Given the description of an element on the screen output the (x, y) to click on. 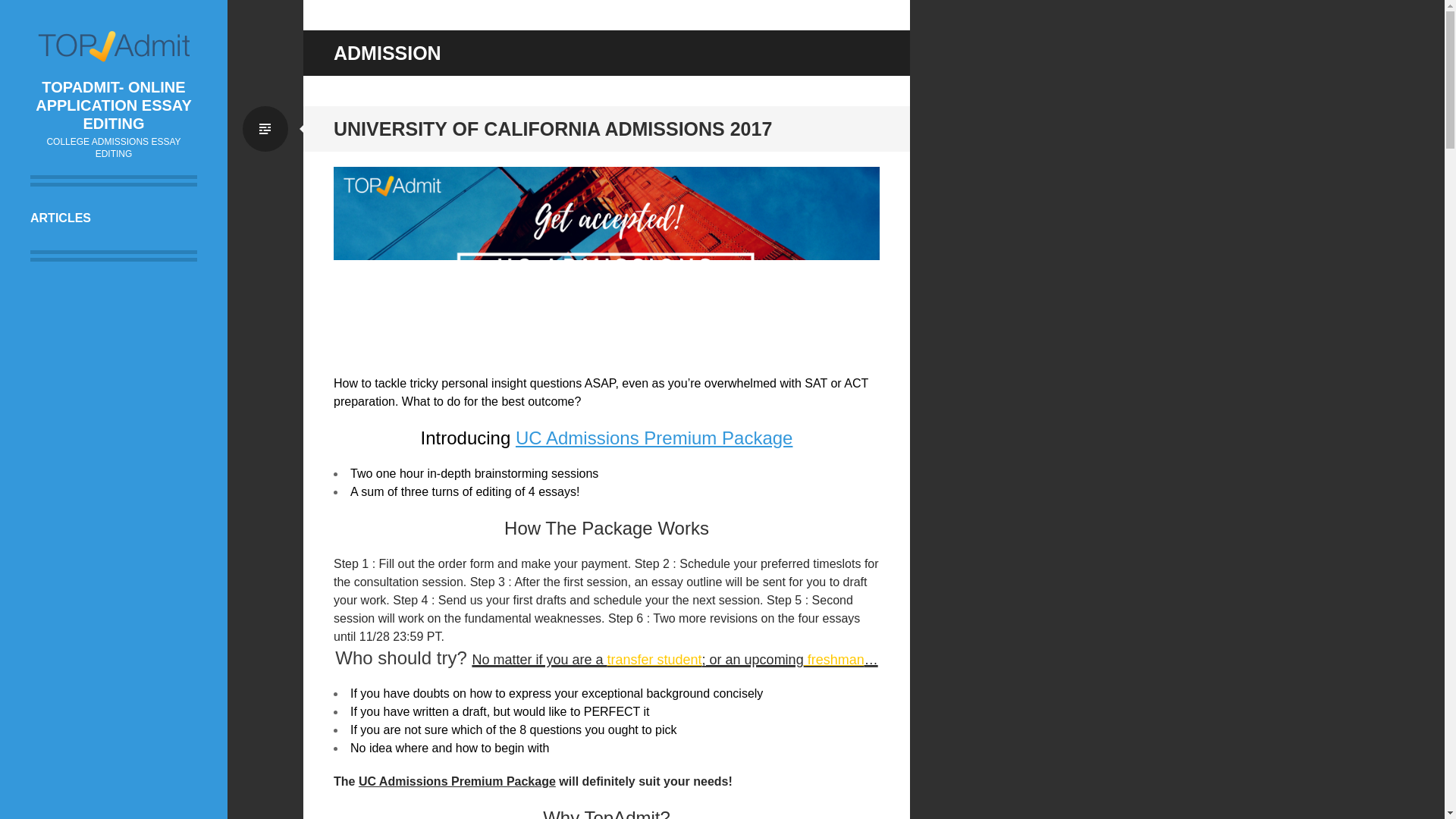
TopAdmit- Online Application Essay Editing (113, 104)
TopAdmit- Online Application Essay Editing (113, 46)
 freshman (833, 659)
UNIVERSITY OF CALIFORNIA ADMISSIONS 2017 (552, 128)
ARTICLES (113, 218)
Skip to content (85, 218)
SKIP TO CONTENT (85, 218)
transfer student (654, 659)
UC Admissions Premium Package (653, 437)
TOPADMIT- ONLINE APPLICATION ESSAY EDITING (113, 104)
